Given the description of an element on the screen output the (x, y) to click on. 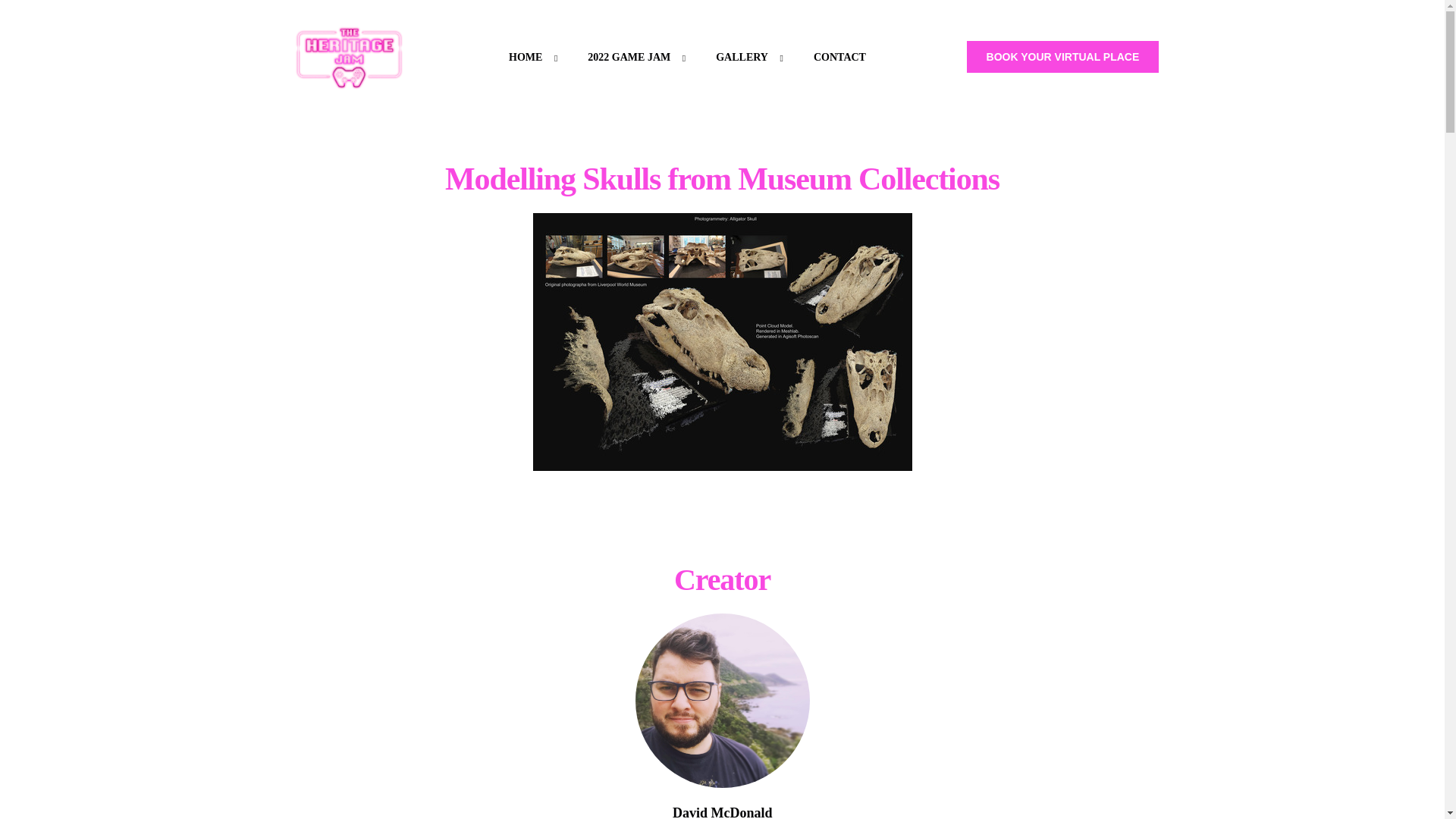
DavidMcdonald (721, 700)
BOOK YOUR VIRTUAL PLACE (1061, 56)
2022 GAME JAM (633, 57)
